Given the description of an element on the screen output the (x, y) to click on. 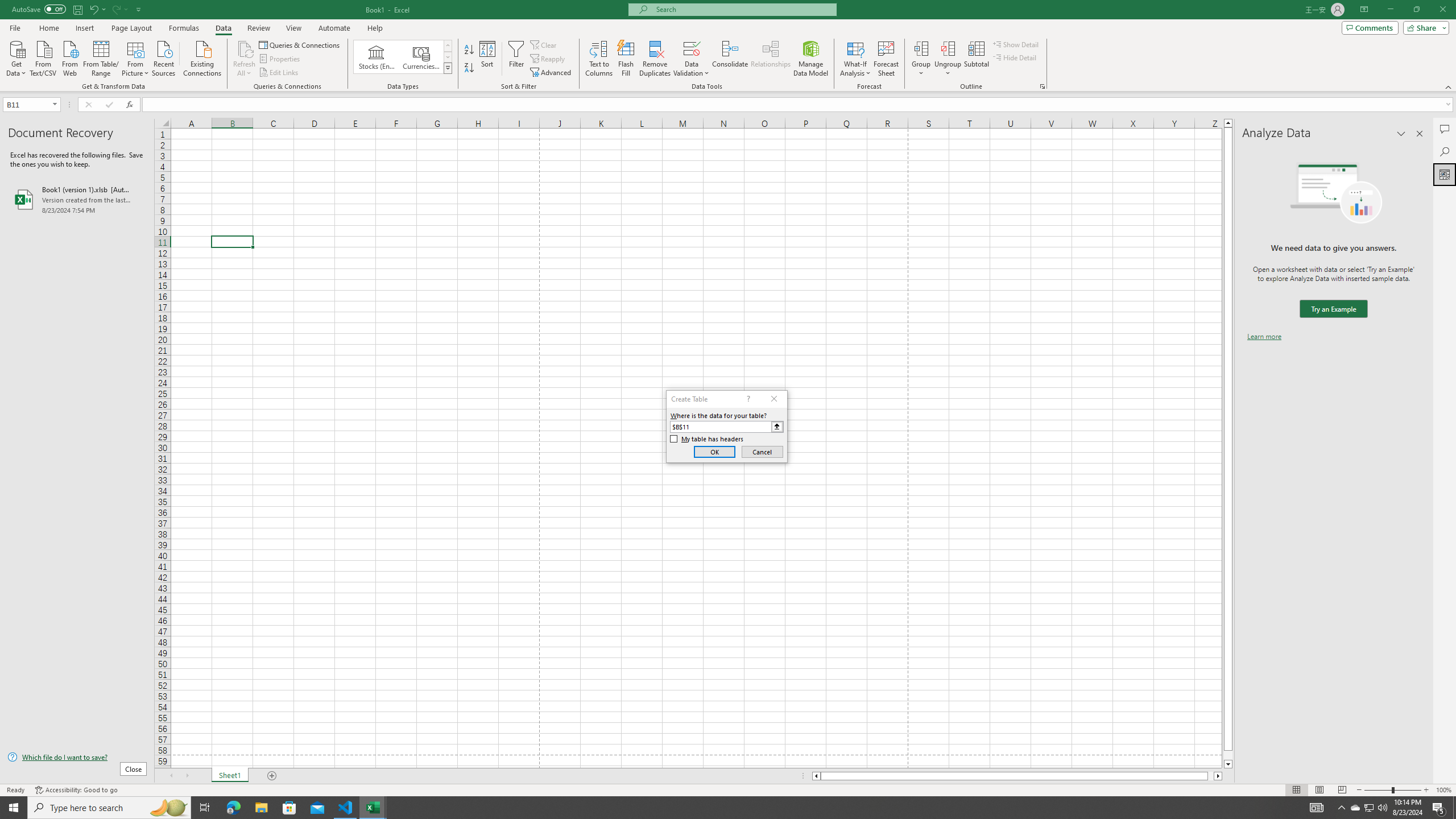
Analyze Data (1444, 173)
What-If Analysis (855, 58)
Class: NetUIImage (447, 68)
From Text/CSV (43, 57)
Formula Bar (799, 104)
Text to Columns... (598, 58)
From Web (69, 57)
